Given the description of an element on the screen output the (x, y) to click on. 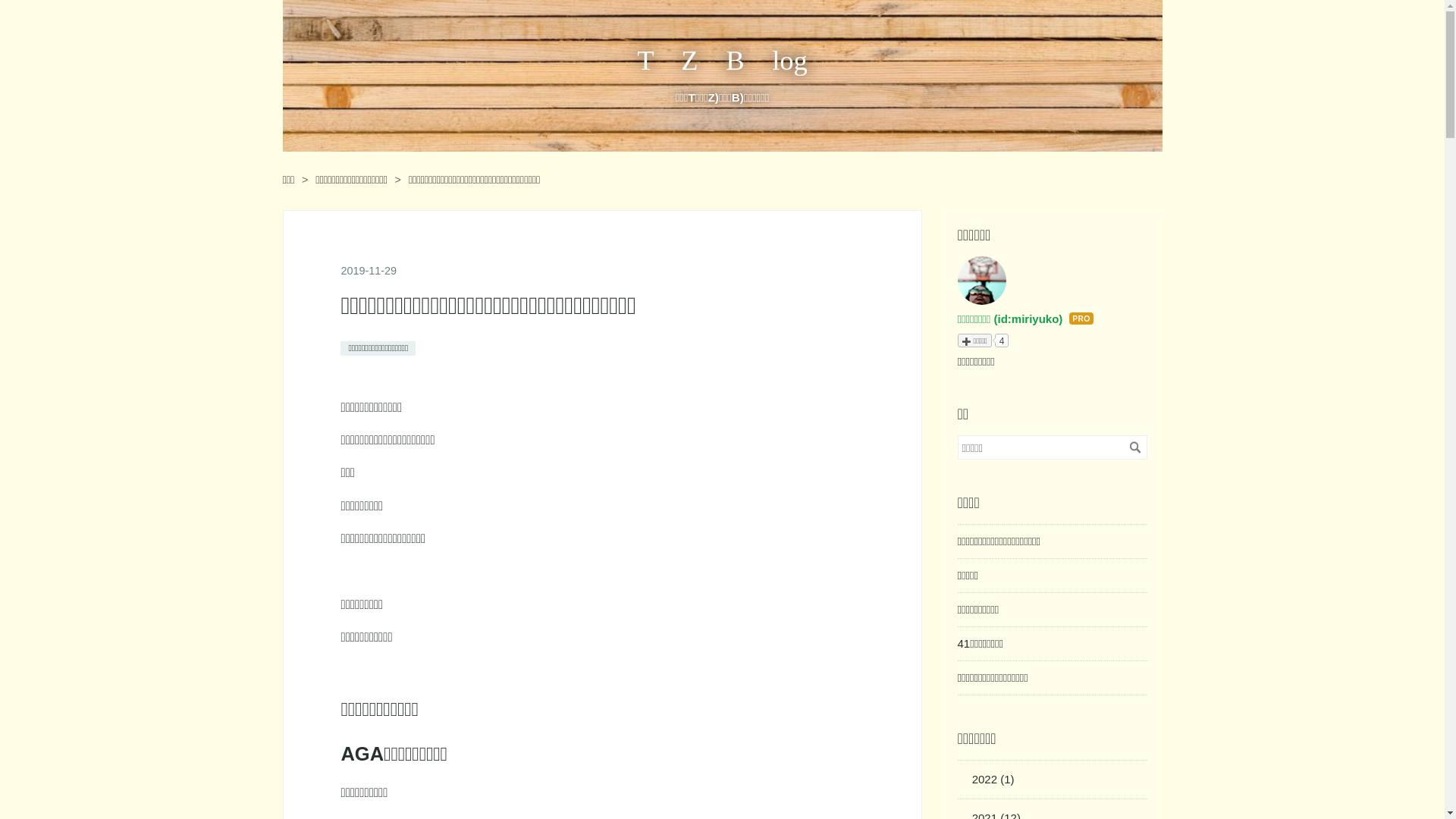
2022 (1) Element type: text (993, 778)
2019-11-29 Element type: text (368, 270)
